Given the description of an element on the screen output the (x, y) to click on. 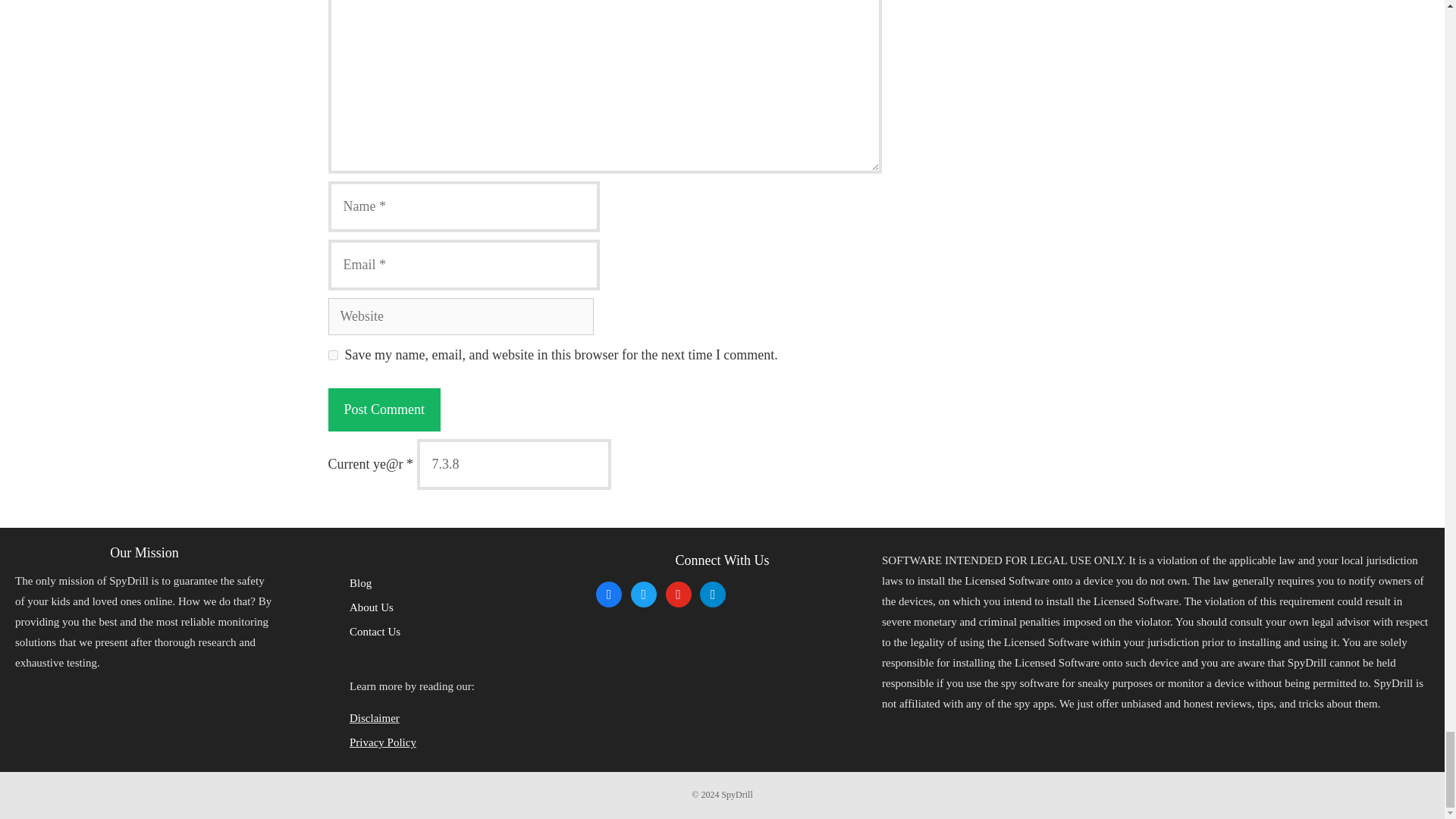
yes (332, 355)
7.3.8 (513, 463)
Post Comment (384, 409)
